Given the description of an element on the screen output the (x, y) to click on. 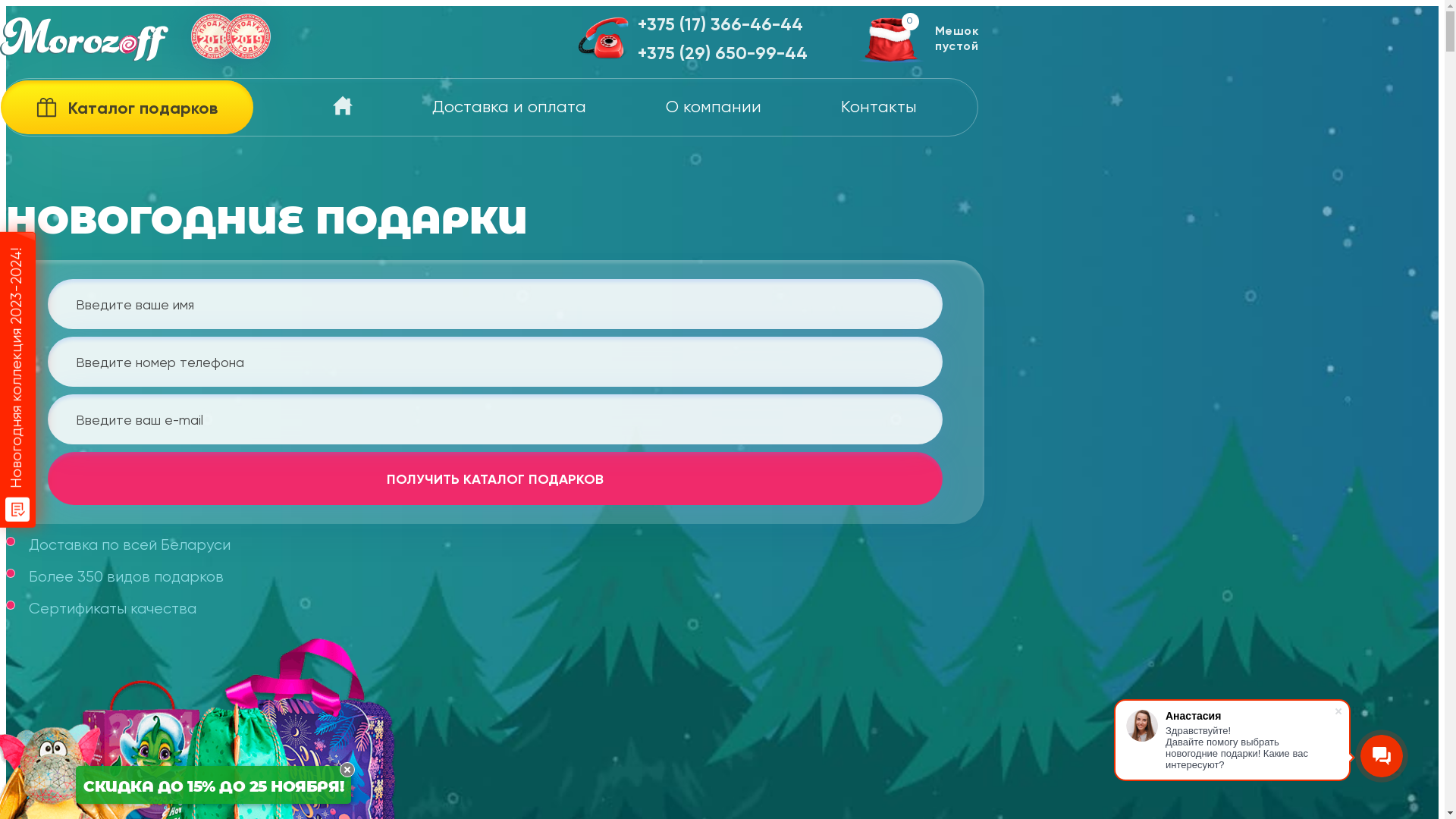
+375 (29) 650-99-44 Element type: text (722, 53)
+375 (17) 366-46-44 Element type: text (722, 25)
